Given the description of an element on the screen output the (x, y) to click on. 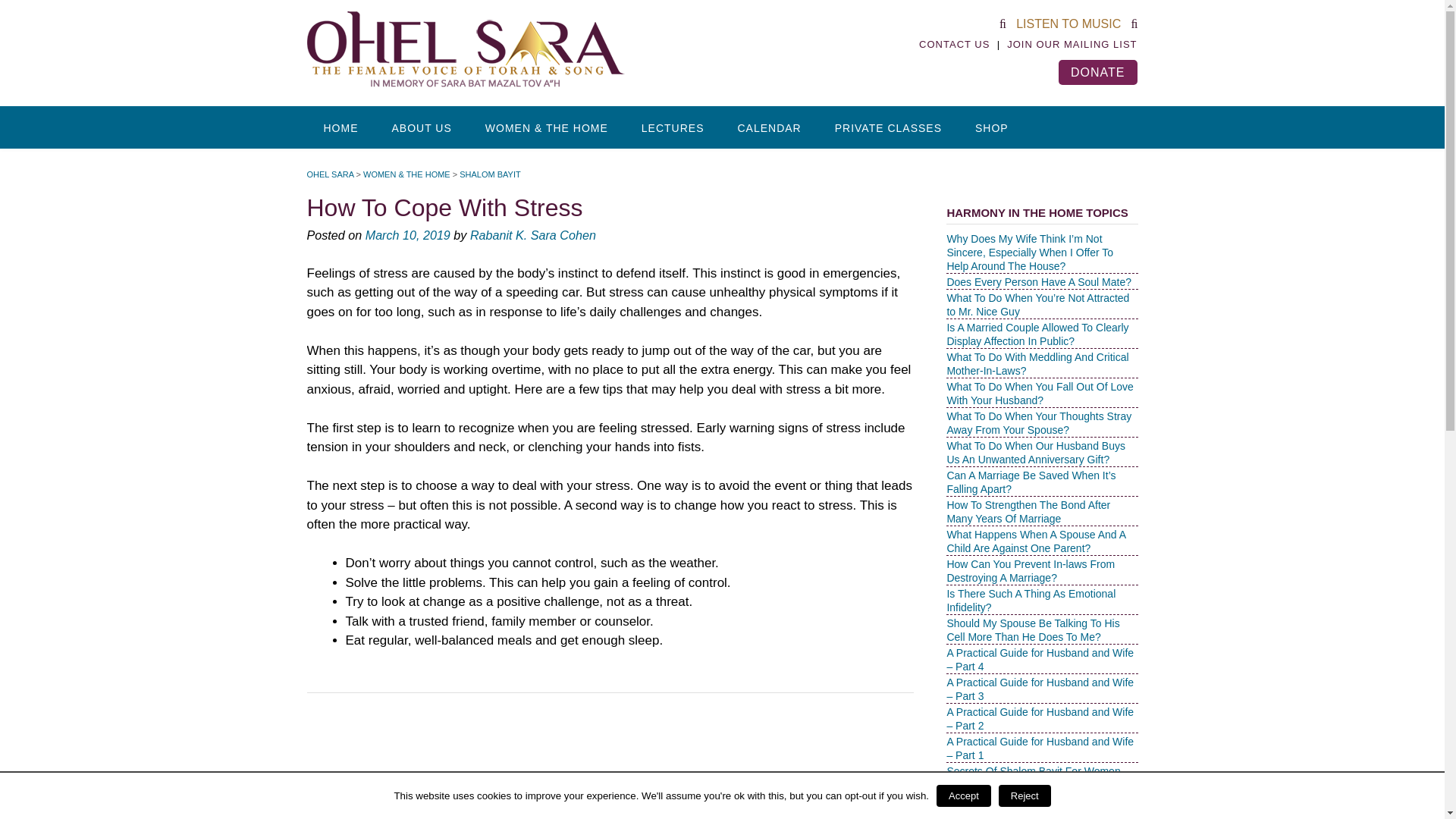
   LISTEN TO MUSIC    (1068, 23)
CALENDAR (768, 127)
OHEL SARA (329, 174)
What To Do With Meddling And Critical Mother-In-Laws? (1037, 363)
HOME (339, 127)
What To Do When Your Thoughts Stray Away From Your Spouse? (1038, 422)
DONATE (1097, 71)
JOIN OUR MAILING LIST (1072, 43)
Rabanit K. Sara Cohen (532, 234)
Go to Ohel Sara. (329, 174)
LECTURES (672, 127)
ABOUT US (420, 127)
SHALOM BAYIT (489, 174)
March 10, 2019 (407, 234)
